Given the description of an element on the screen output the (x, y) to click on. 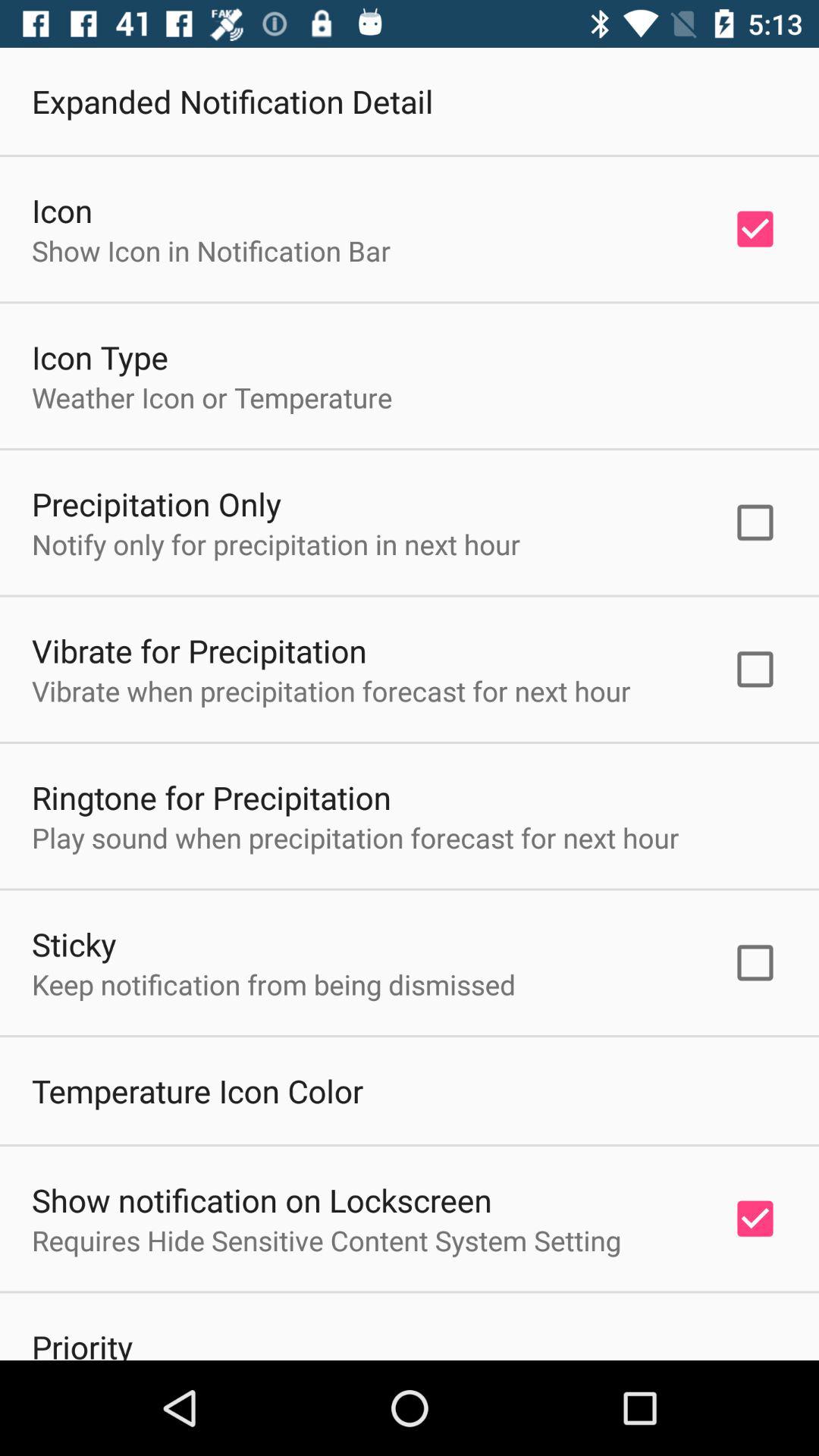
turn off the keep notification from item (273, 984)
